Given the description of an element on the screen output the (x, y) to click on. 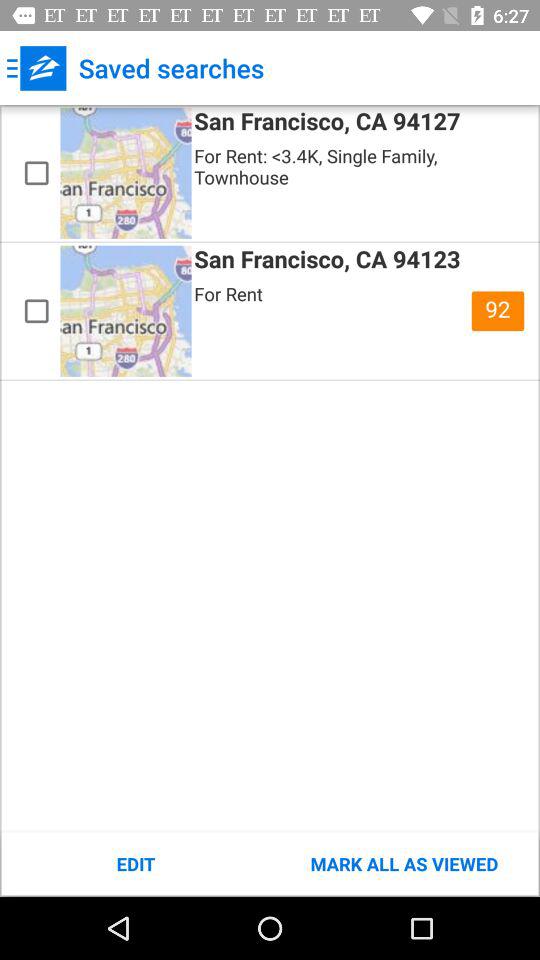
scroll to the edit (135, 863)
